Given the description of an element on the screen output the (x, y) to click on. 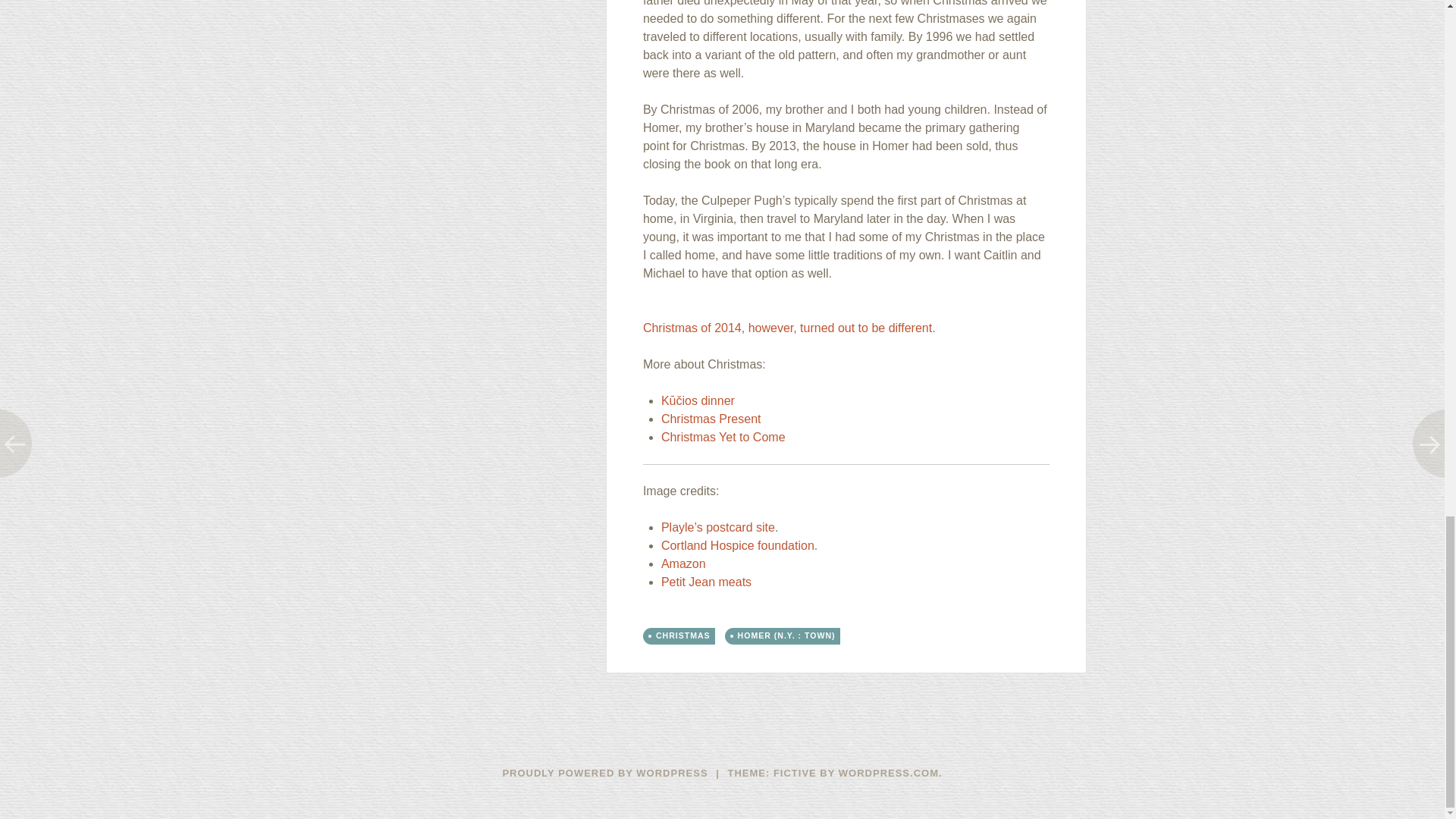
Cortland Hospice foundation. (738, 545)
WORDPRESS.COM (888, 772)
Amazon (683, 563)
PROUDLY POWERED BY WORDPRESS (604, 772)
Operation Arapaima (789, 336)
Christmas Present (711, 418)
Christmas Yet to Come (723, 436)
Christmas of 2014, however, turned out to be different. (789, 336)
CHRISTMAS (682, 636)
Petit Jean meats (706, 581)
